Given the description of an element on the screen output the (x, y) to click on. 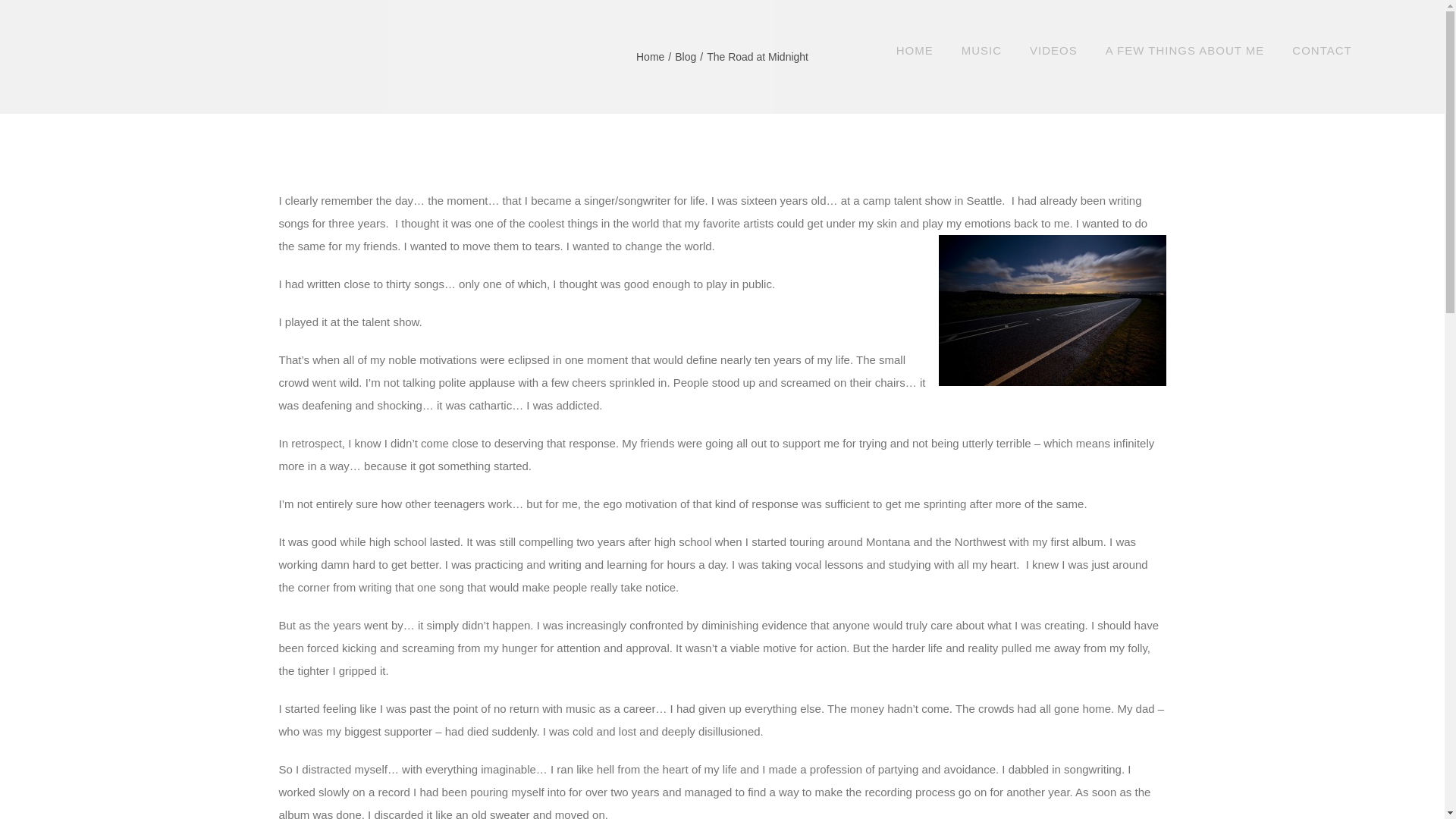
MUSIC (980, 50)
Home (649, 56)
HOME (914, 50)
CONTACT (1321, 50)
Blog (685, 56)
VIDEOS (1053, 50)
A FEW THINGS ABOUT ME (1185, 50)
